Given the description of an element on the screen output the (x, y) to click on. 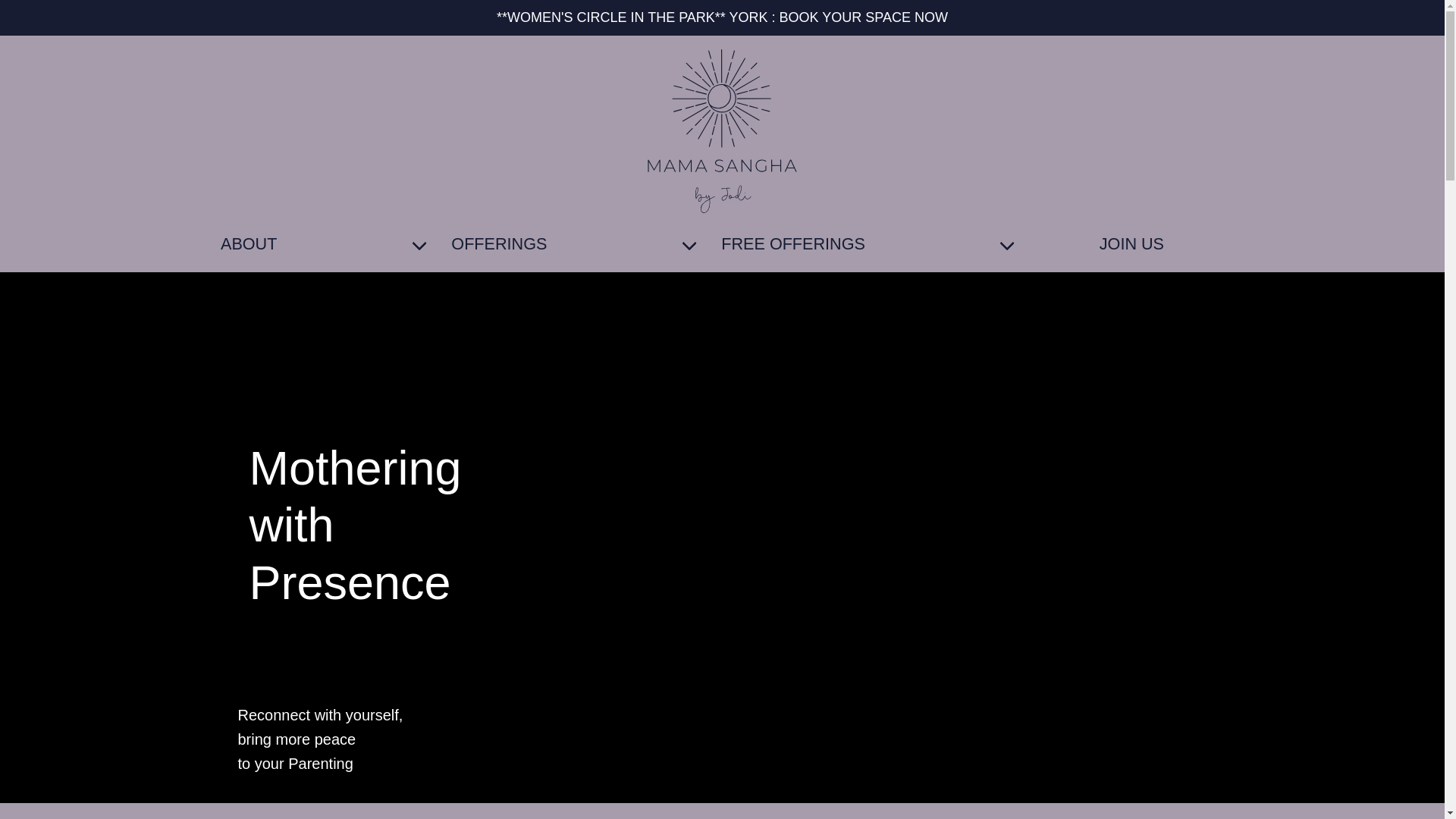
OFFERINGS (575, 243)
ABOUT (325, 243)
FREE OFFERINGS (869, 243)
JOIN US (1131, 244)
